Given the description of an element on the screen output the (x, y) to click on. 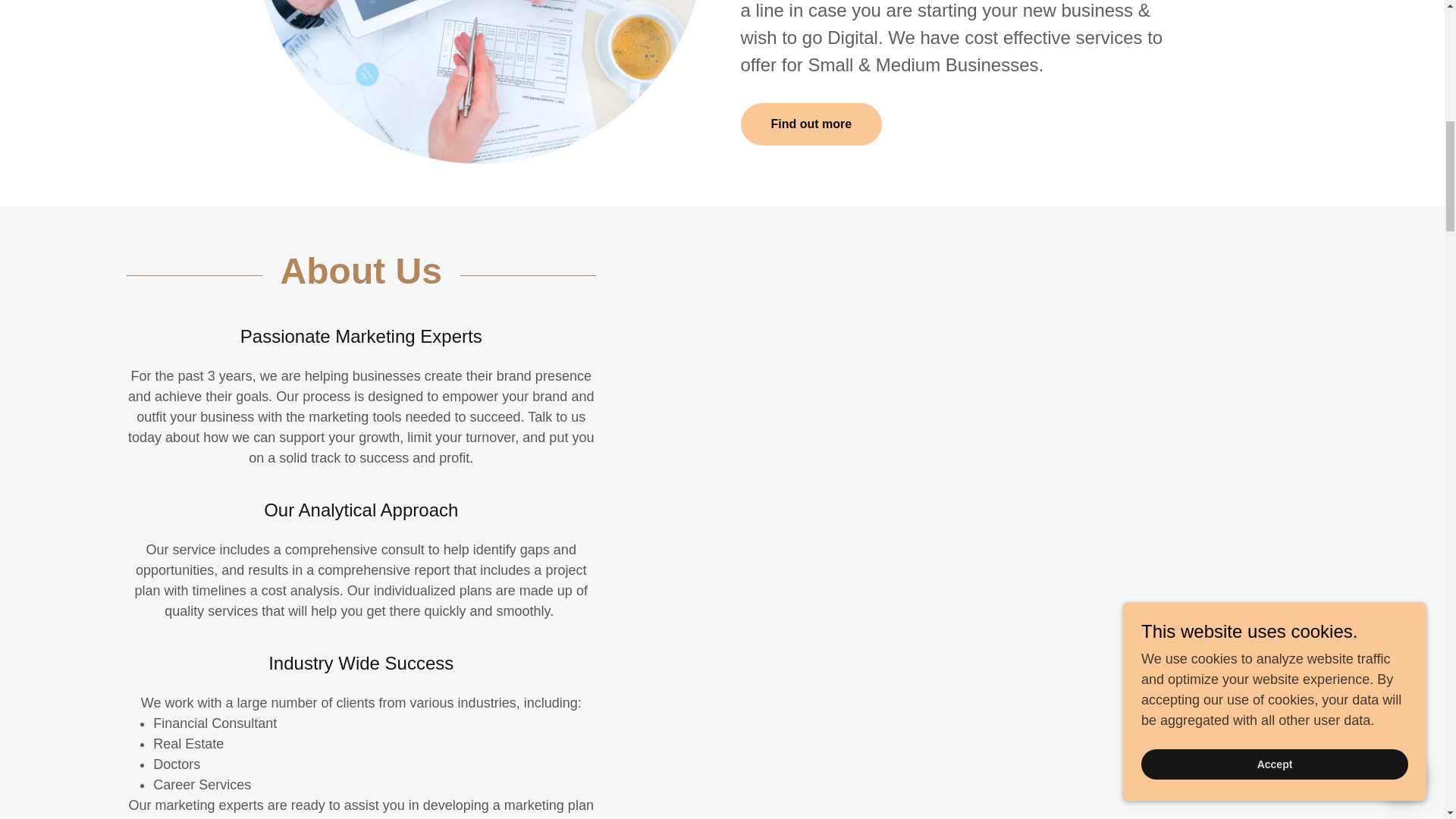
Find out more (810, 124)
